Given the description of an element on the screen output the (x, y) to click on. 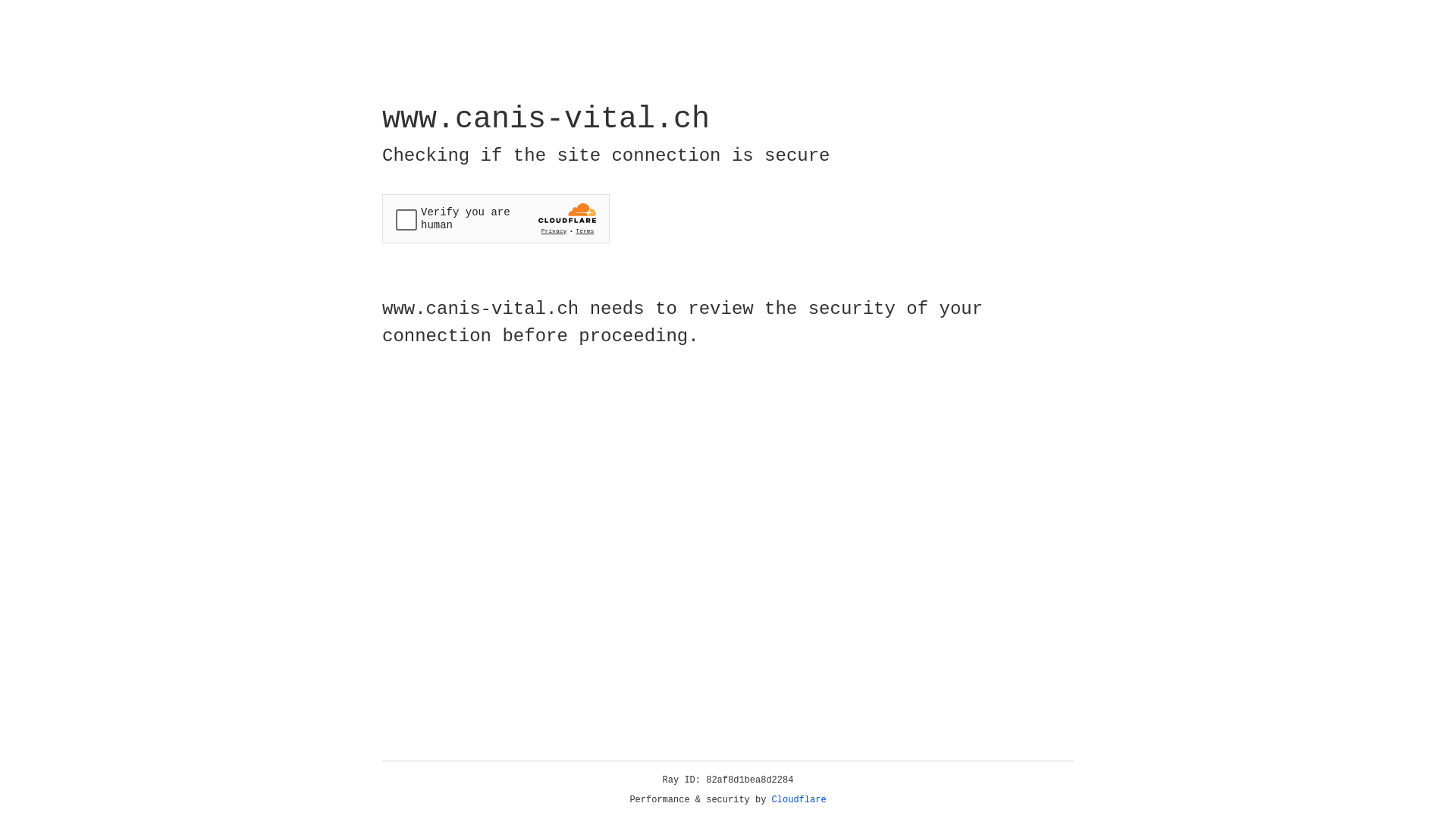
Cloudflare Element type: text (798, 799)
Widget containing a Cloudflare security challenge Element type: hover (495, 218)
